Given the description of an element on the screen output the (x, y) to click on. 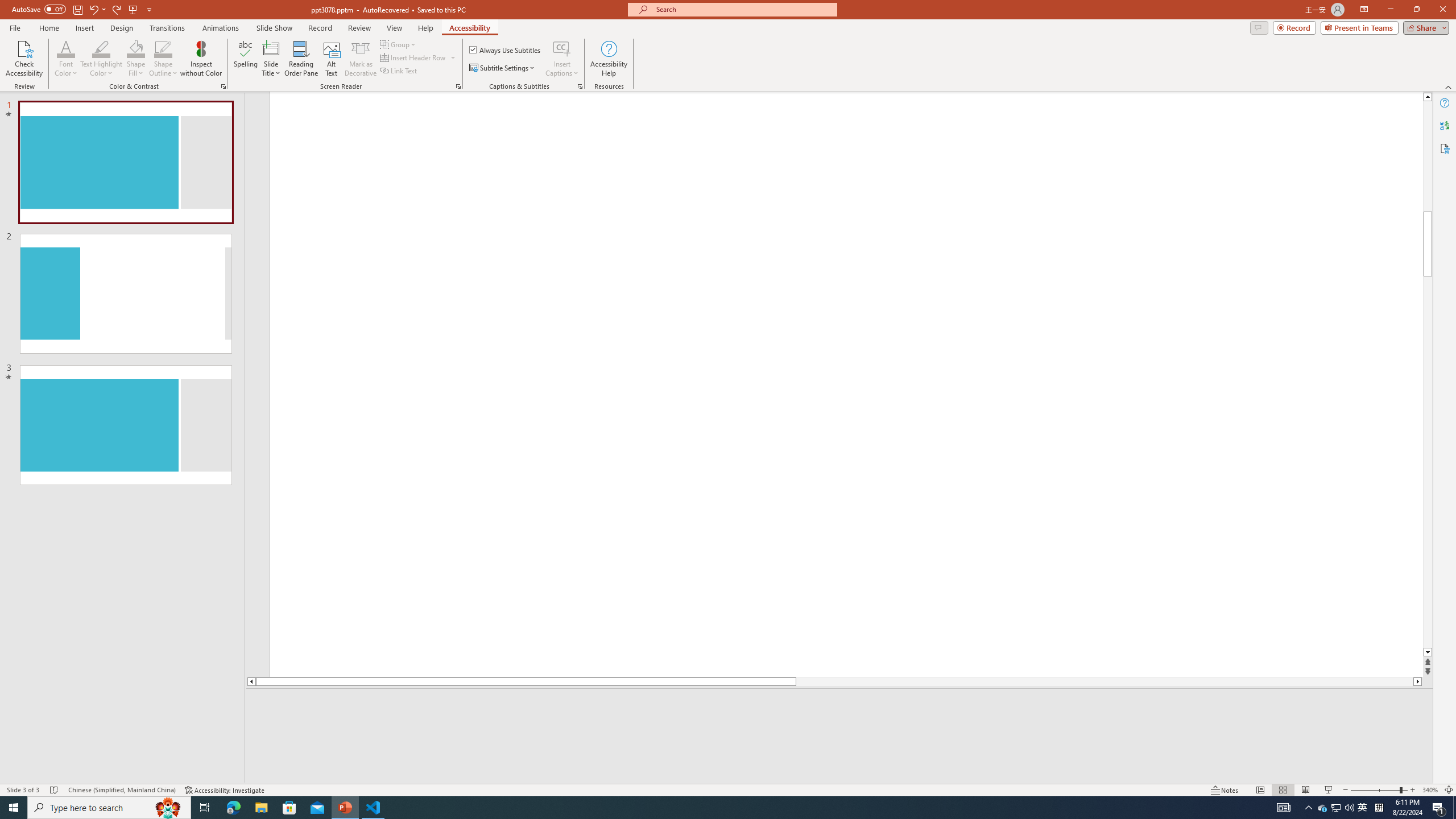
Inspect without Color (201, 58)
Mark as Decorative (360, 58)
Accessibility Help (608, 58)
